Given the description of an element on the screen output the (x, y) to click on. 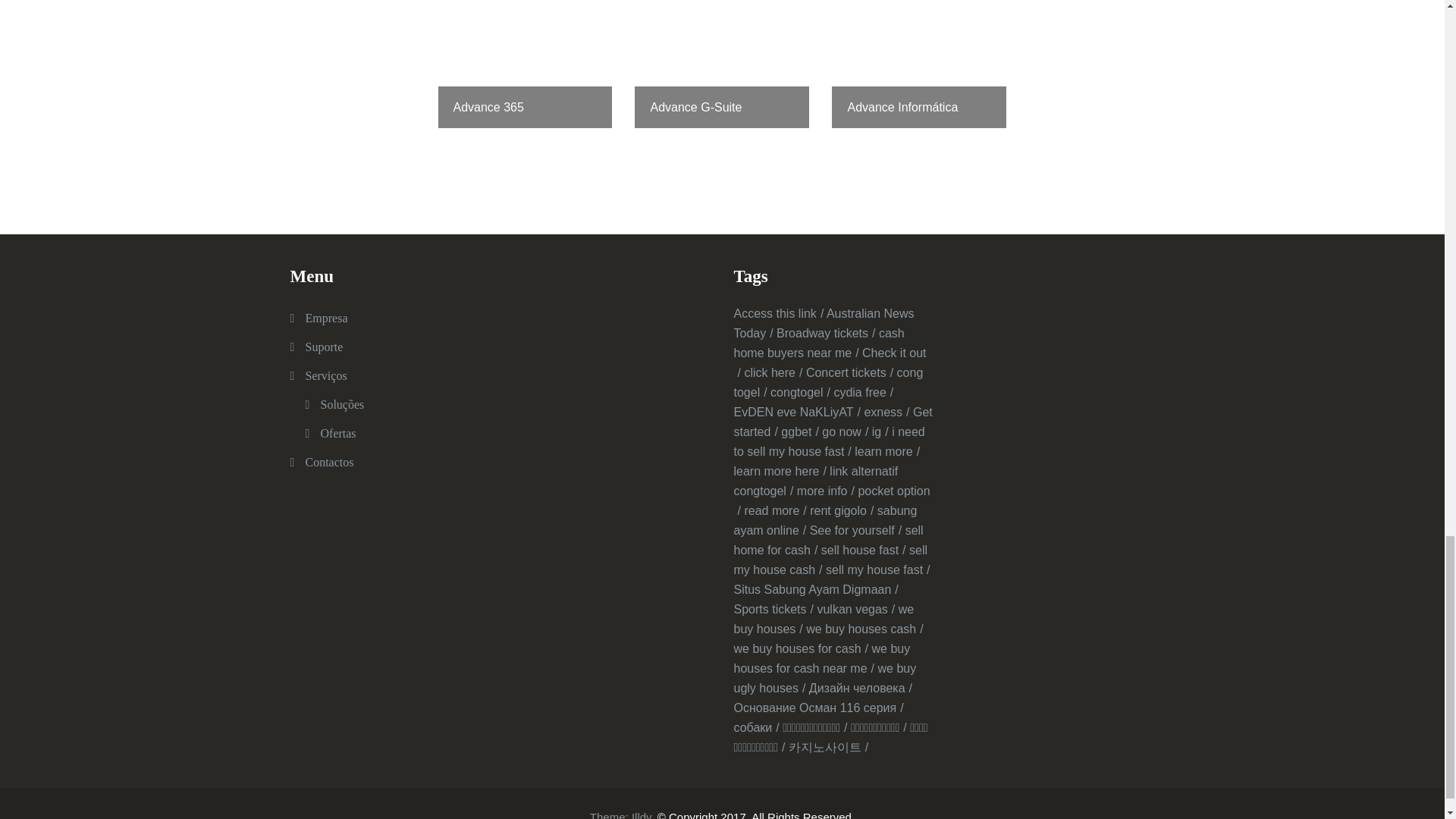
cydia free (862, 391)
Advance G-Suite (721, 63)
congtogel (799, 391)
cash home buyers near me (818, 342)
EvDEN eve NaKLiyAT (796, 411)
Suporte (323, 346)
Access this link (778, 313)
Concert tickets (849, 372)
exness (885, 411)
Check it out (829, 362)
Illdy (640, 814)
Advance 365 (525, 63)
Advance G-Suite (721, 63)
Australian News Today (823, 323)
Advance 365 (525, 63)
